Given the description of an element on the screen output the (x, y) to click on. 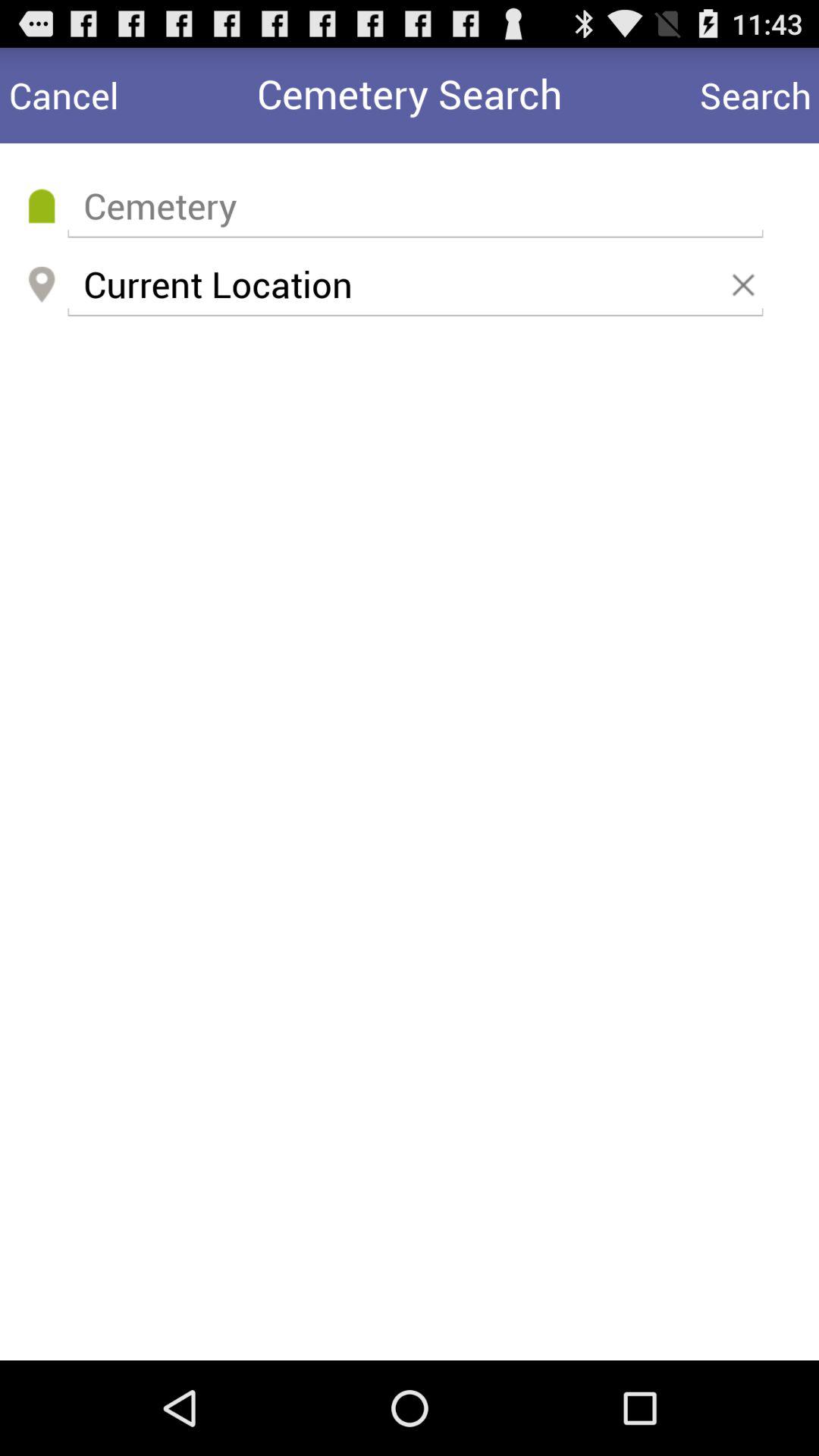
open cancel button (63, 95)
